Given the description of an element on the screen output the (x, y) to click on. 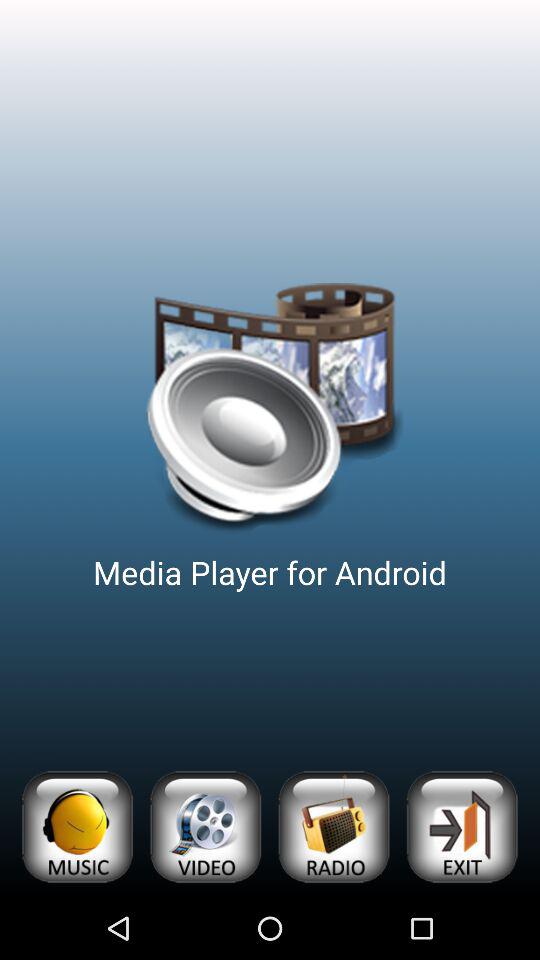
video option (205, 826)
